Given the description of an element on the screen output the (x, y) to click on. 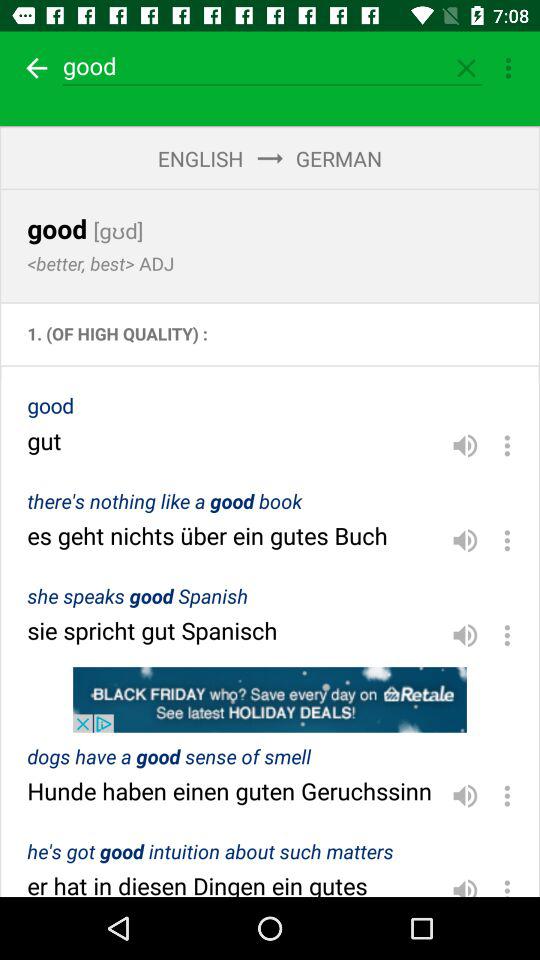
settings option (507, 540)
